Given the description of an element on the screen output the (x, y) to click on. 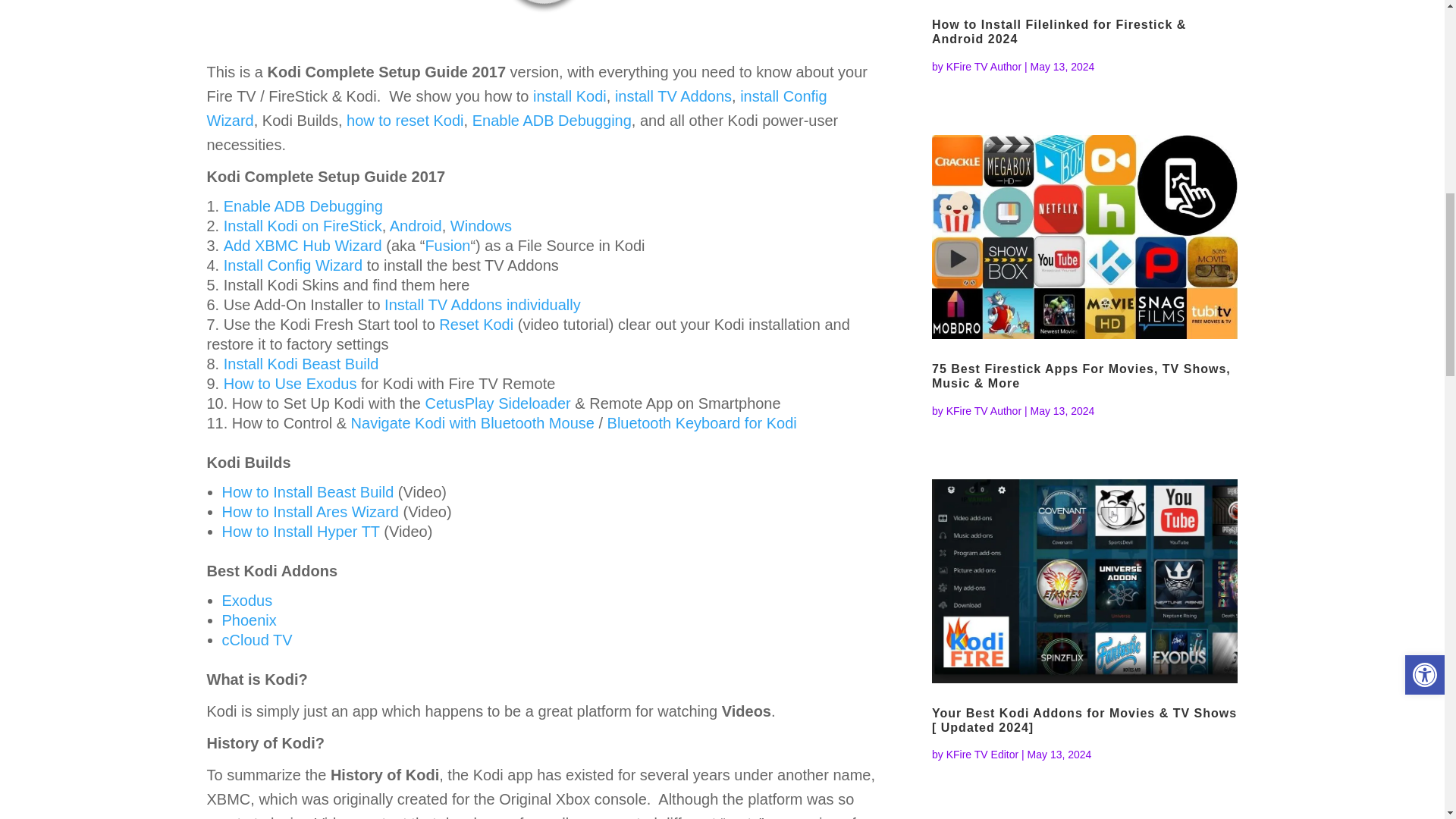
Kodi complete setup guide 2017 Easy Setup (540, 15)
